Given the description of an element on the screen output the (x, y) to click on. 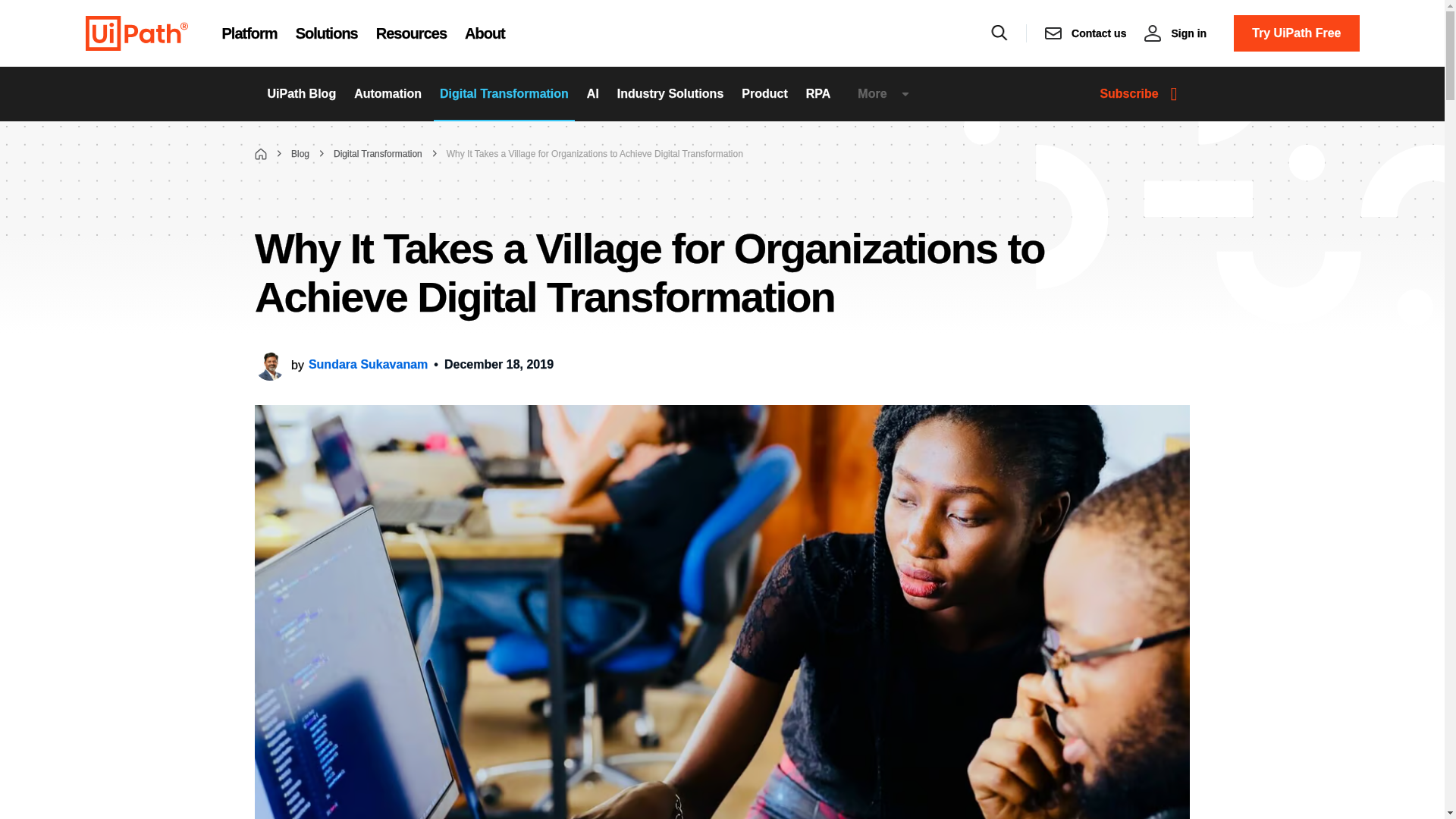
Platform (248, 33)
Solutions (326, 33)
